Given the description of an element on the screen output the (x, y) to click on. 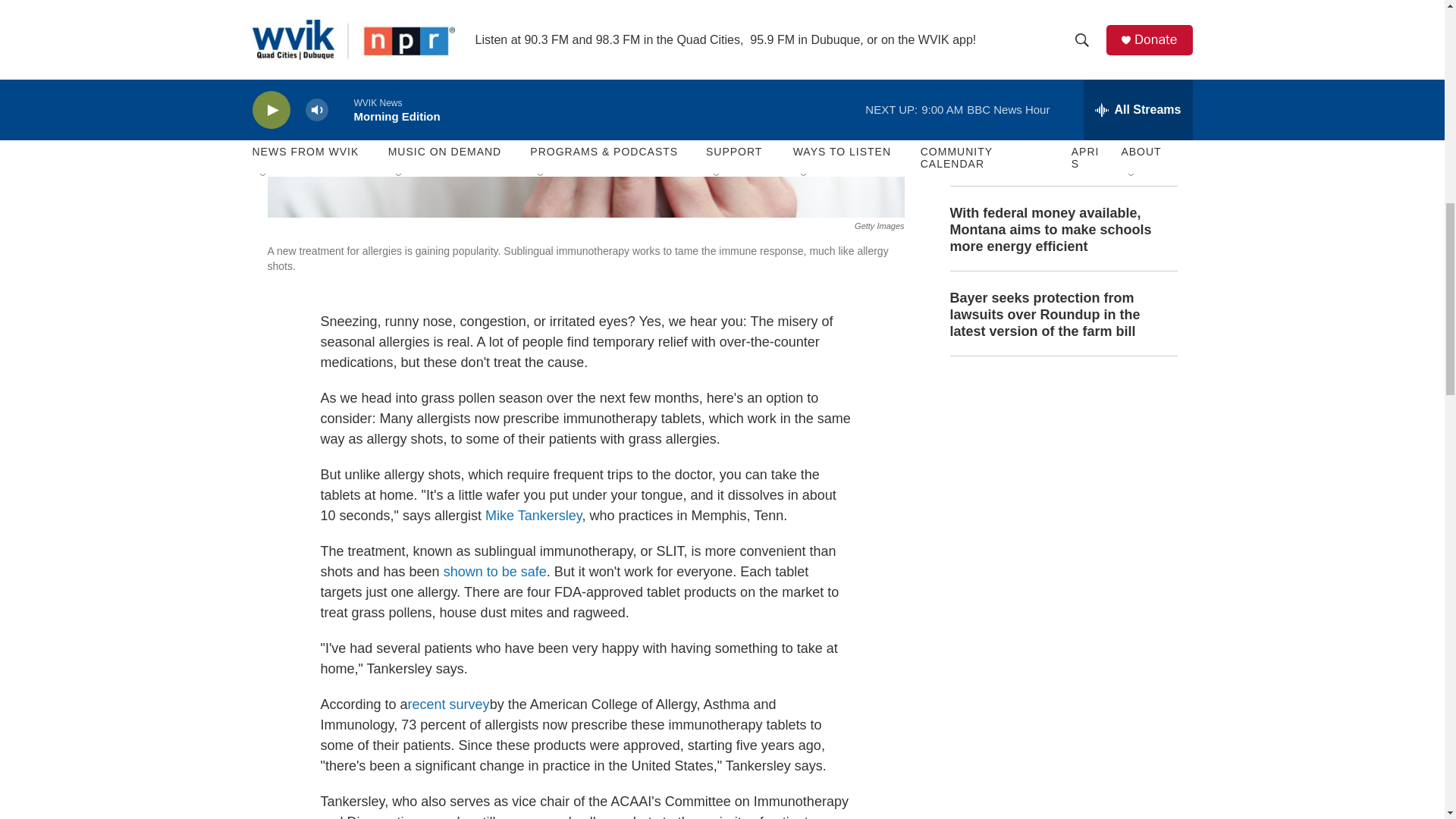
3rd party ad content (1062, 481)
